Given the description of an element on the screen output the (x, y) to click on. 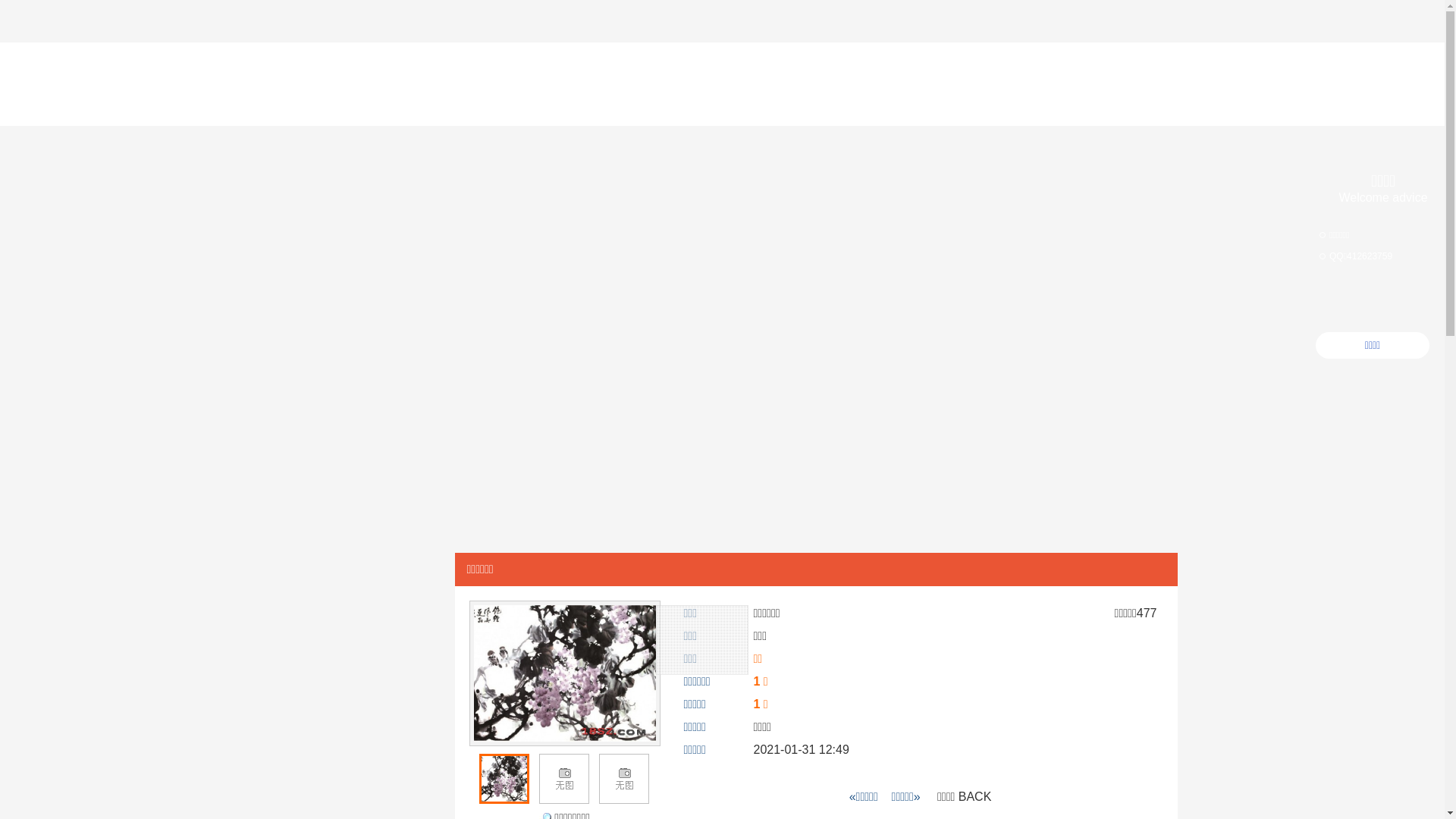
412623759 Element type: text (1369, 255)
